Given the description of an element on the screen output the (x, y) to click on. 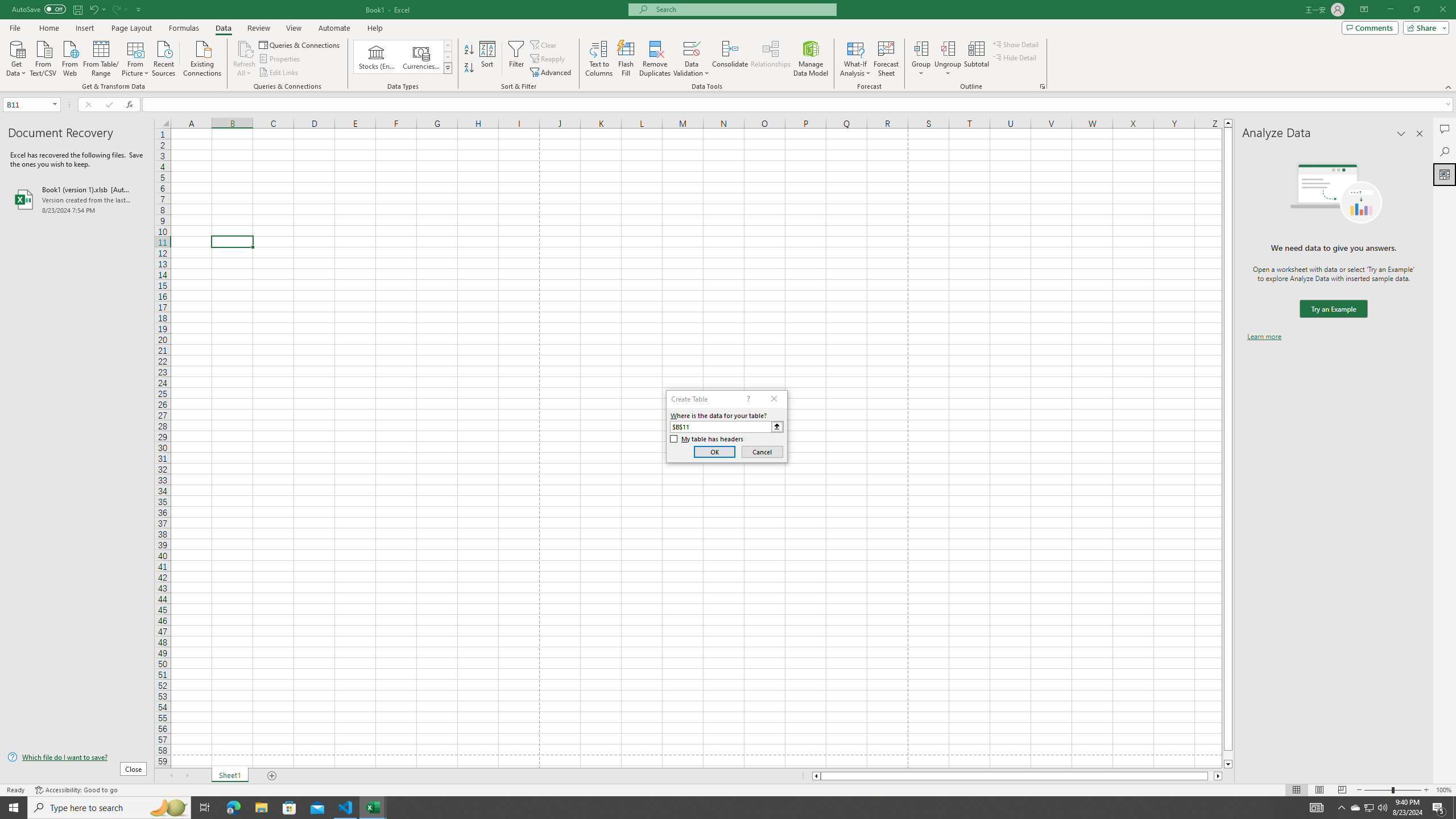
Clear (544, 44)
